Given the description of an element on the screen output the (x, y) to click on. 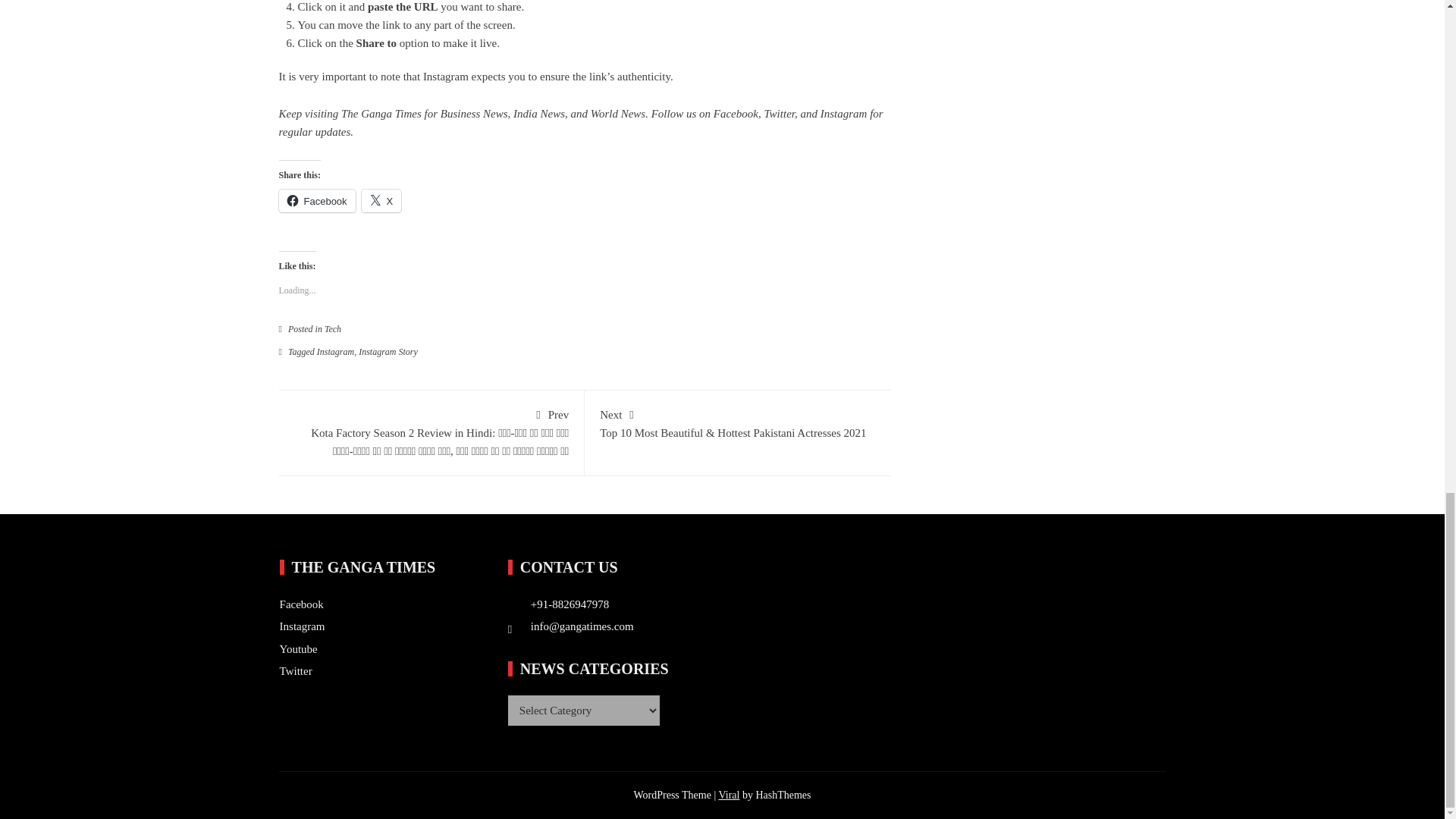
Instagram (844, 113)
The Ganga Times (381, 113)
Click to share on X (381, 200)
Download Viral (728, 794)
Instagram (335, 351)
Twitter (778, 113)
Tech (332, 328)
Instagram Story (387, 351)
Facebook (317, 200)
Click to share on Facebook (317, 200)
